Given the description of an element on the screen output the (x, y) to click on. 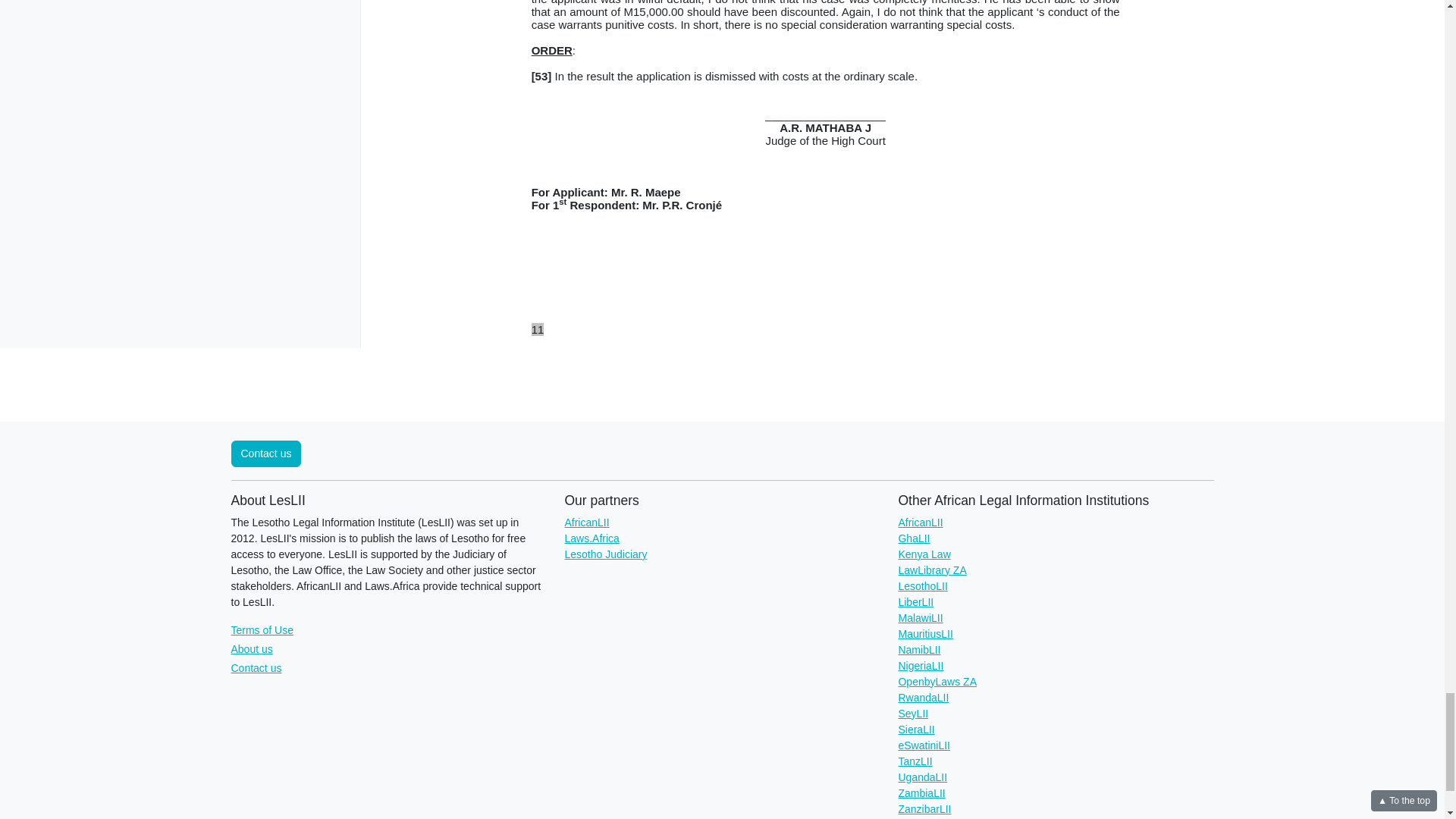
footer (825, 335)
